Given the description of an element on the screen output the (x, y) to click on. 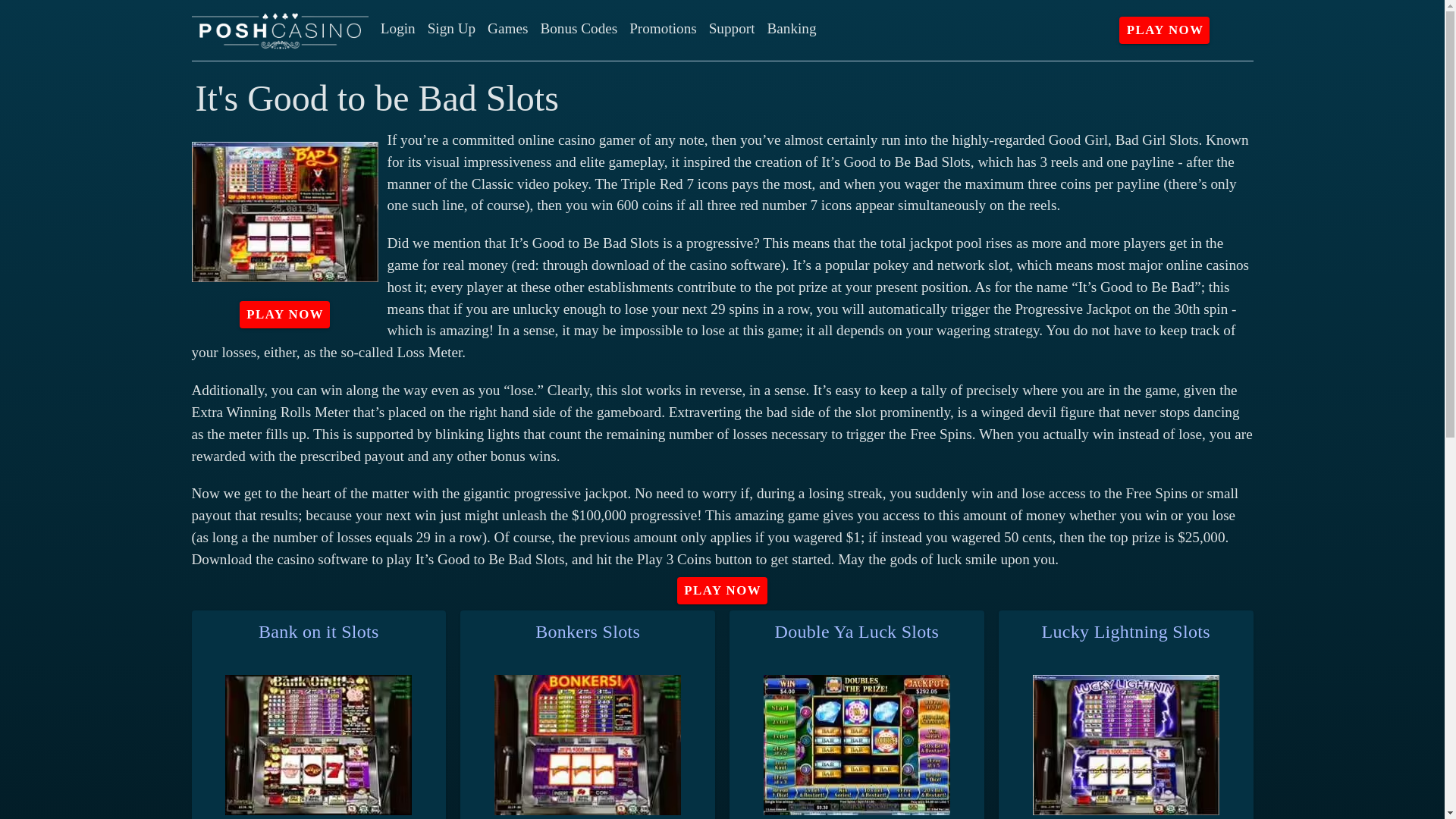
Bank on it Slots (318, 631)
PLAY NOW (285, 314)
Login (398, 28)
Promotions (663, 28)
Lucky Lightning Slots (1125, 631)
Bonus Codes (578, 28)
Double Ya Luck Slots (856, 631)
Games (507, 28)
Bonkers Slots (587, 631)
PLAY NOW (1164, 30)
Sign Up (451, 28)
PLAY NOW (722, 590)
Support (732, 28)
Banking (791, 28)
